Given the description of an element on the screen output the (x, y) to click on. 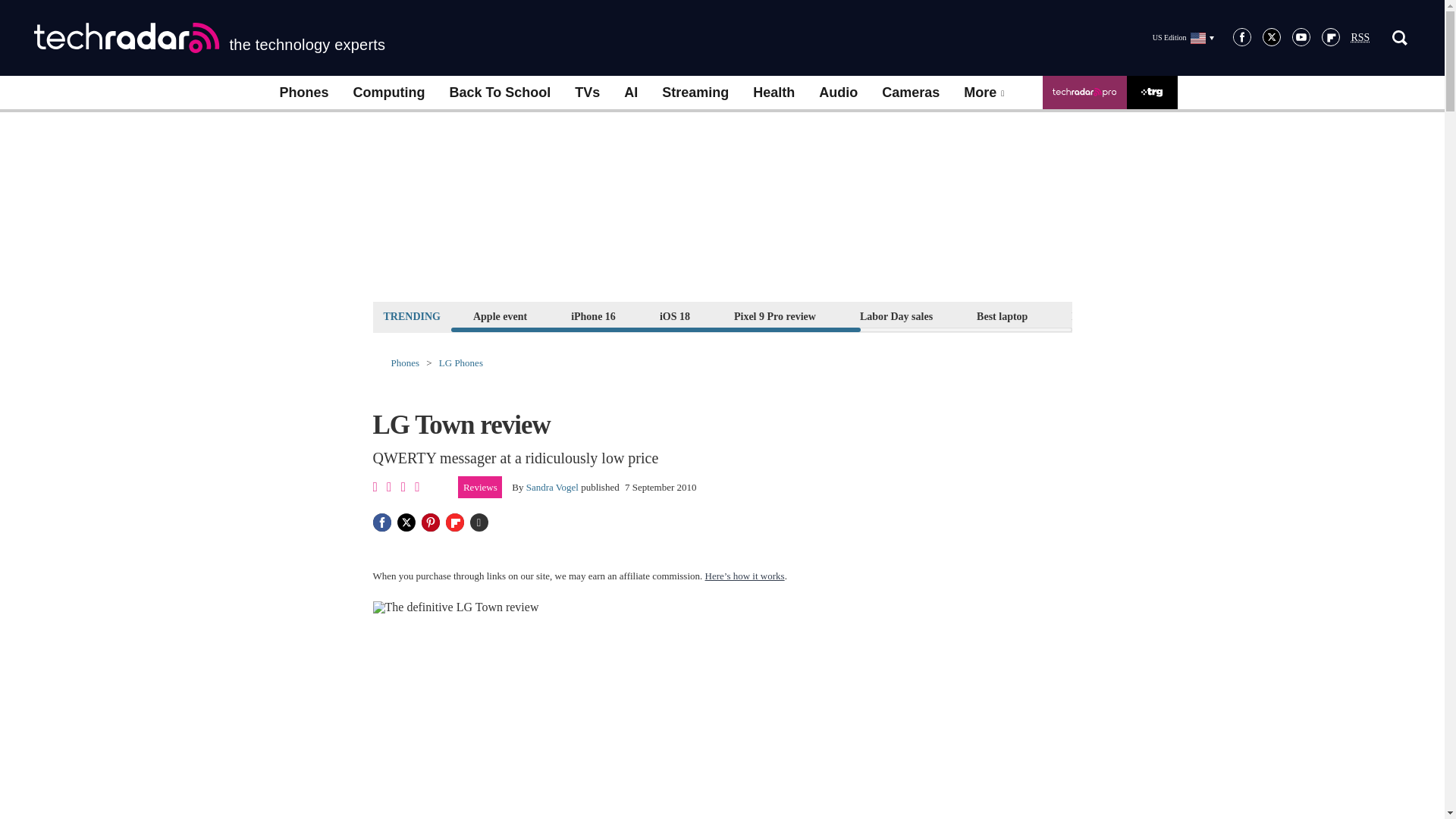
Audio (837, 92)
the technology experts (209, 38)
Phones (303, 92)
Computing (389, 92)
TVs (586, 92)
Back To School (499, 92)
Cameras (910, 92)
AI (630, 92)
Streaming (695, 92)
Really Simple Syndication (1360, 37)
